Given the description of an element on the screen output the (x, y) to click on. 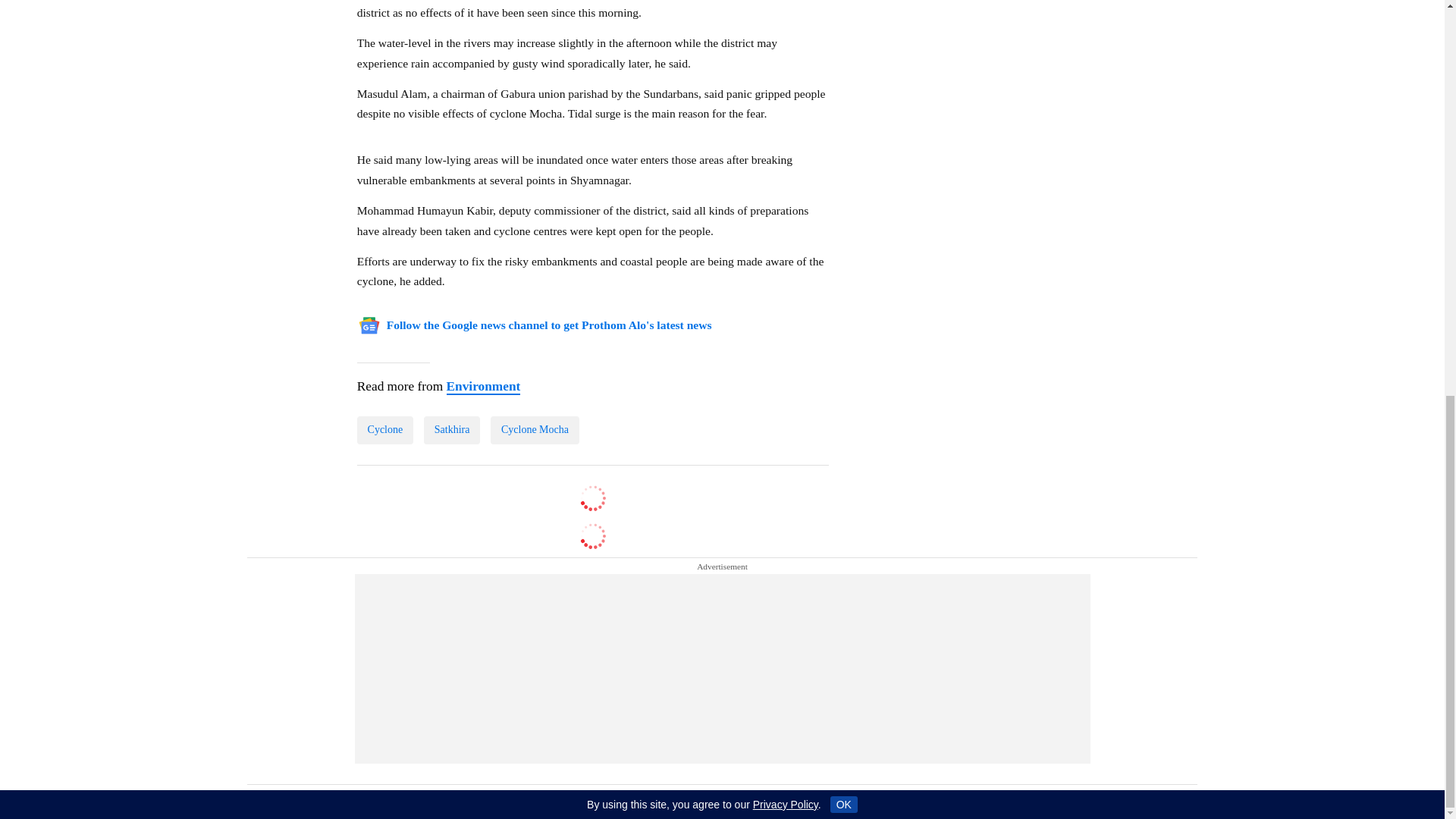
Privacy Policy (785, 38)
Cyclone Mocha (534, 429)
Environment (482, 386)
OK (843, 38)
Cyclone (384, 429)
Satkhira (451, 429)
